Given the description of an element on the screen output the (x, y) to click on. 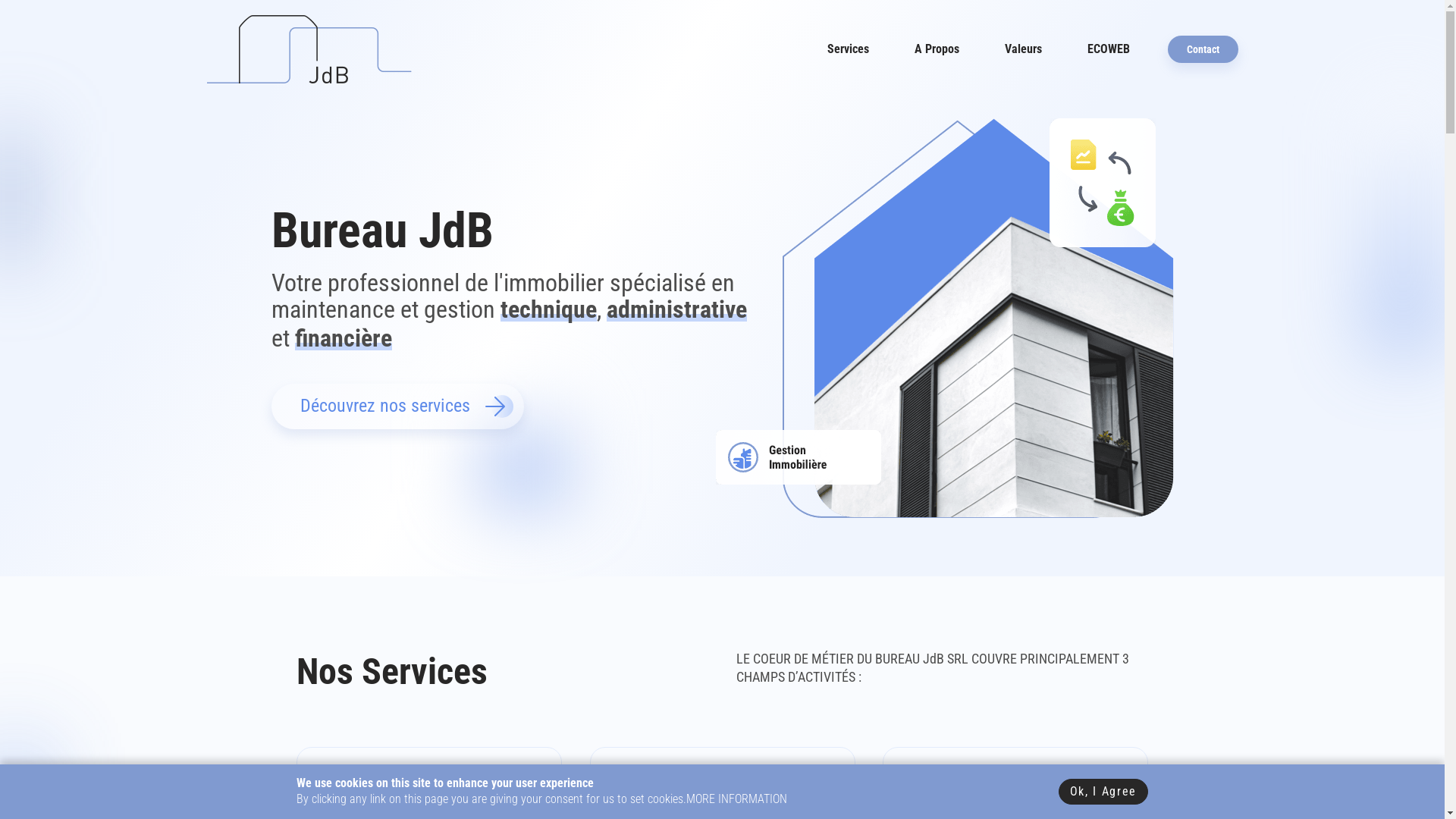
Ok, I Agree Element type: text (1103, 791)
Contact Element type: text (1202, 49)
ECOWEB Element type: text (1108, 48)
MORE INFORMATION Element type: text (736, 798)
Valeurs Element type: text (1022, 48)
A Propos Element type: text (936, 48)
Services Element type: text (847, 48)
